Given the description of an element on the screen output the (x, y) to click on. 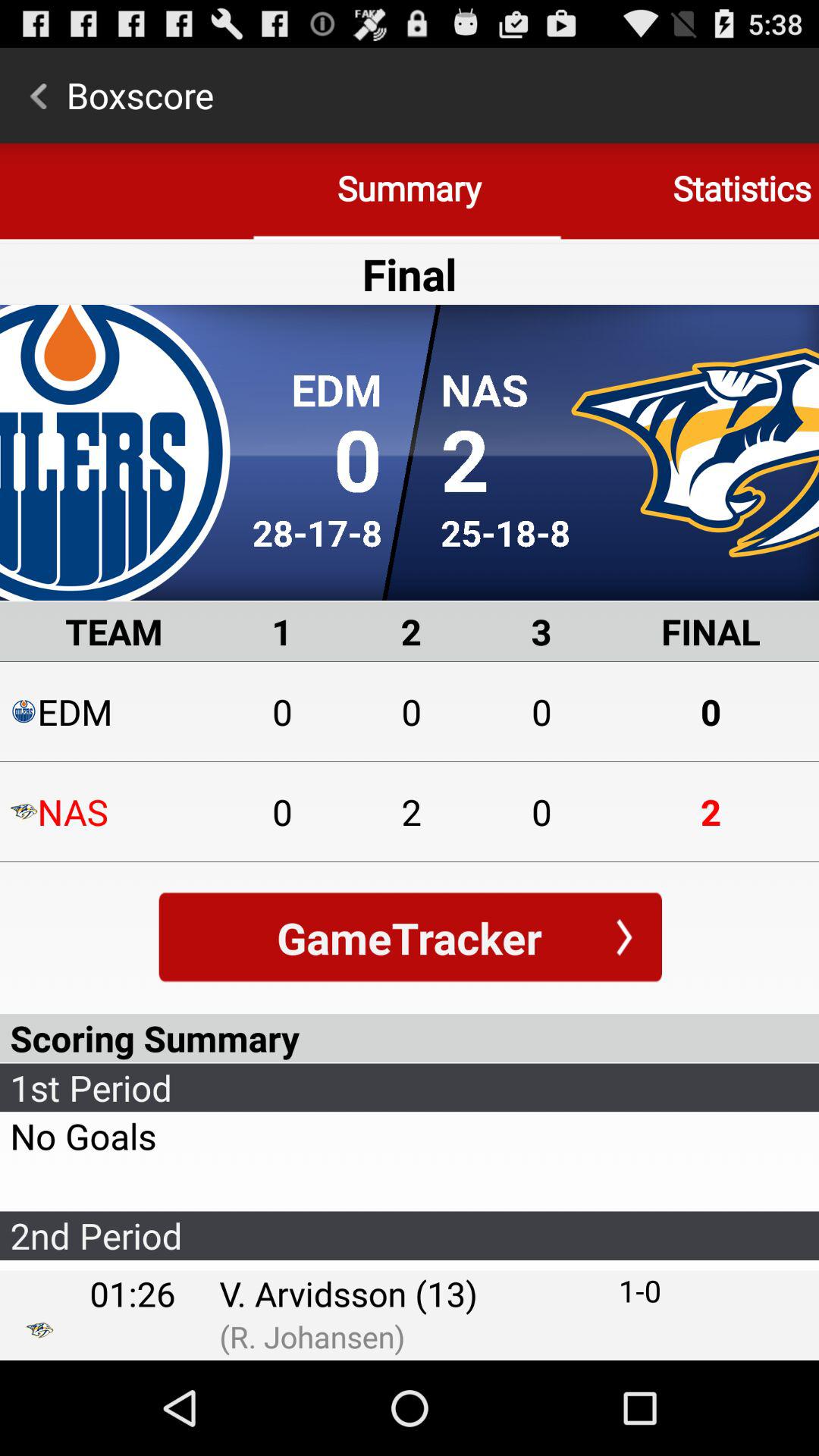
flip to the gametracker item (409, 937)
